Given the description of an element on the screen output the (x, y) to click on. 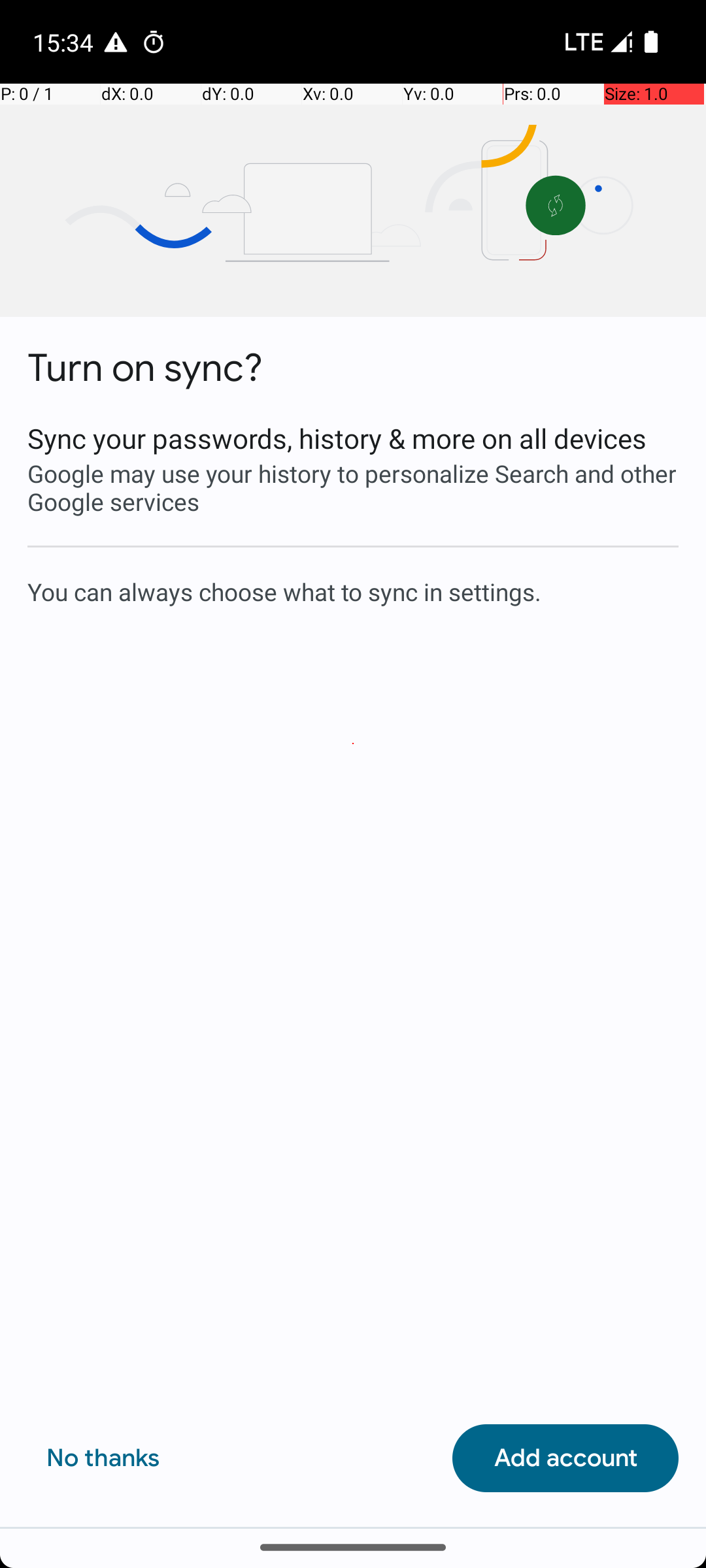
No thanks Element type: android.widget.Button (102, 1458)
Add account Element type: android.widget.Button (565, 1458)
Turn on sync? Element type: android.widget.TextView (144, 368)
Sync your passwords, history & more on all devices Element type: android.widget.TextView (352, 437)
Google may use your history to personalize Search and other Google services Element type: android.widget.TextView (352, 487)
You can always choose what to sync in settings. Element type: android.widget.TextView (352, 591)
